Given the description of an element on the screen output the (x, y) to click on. 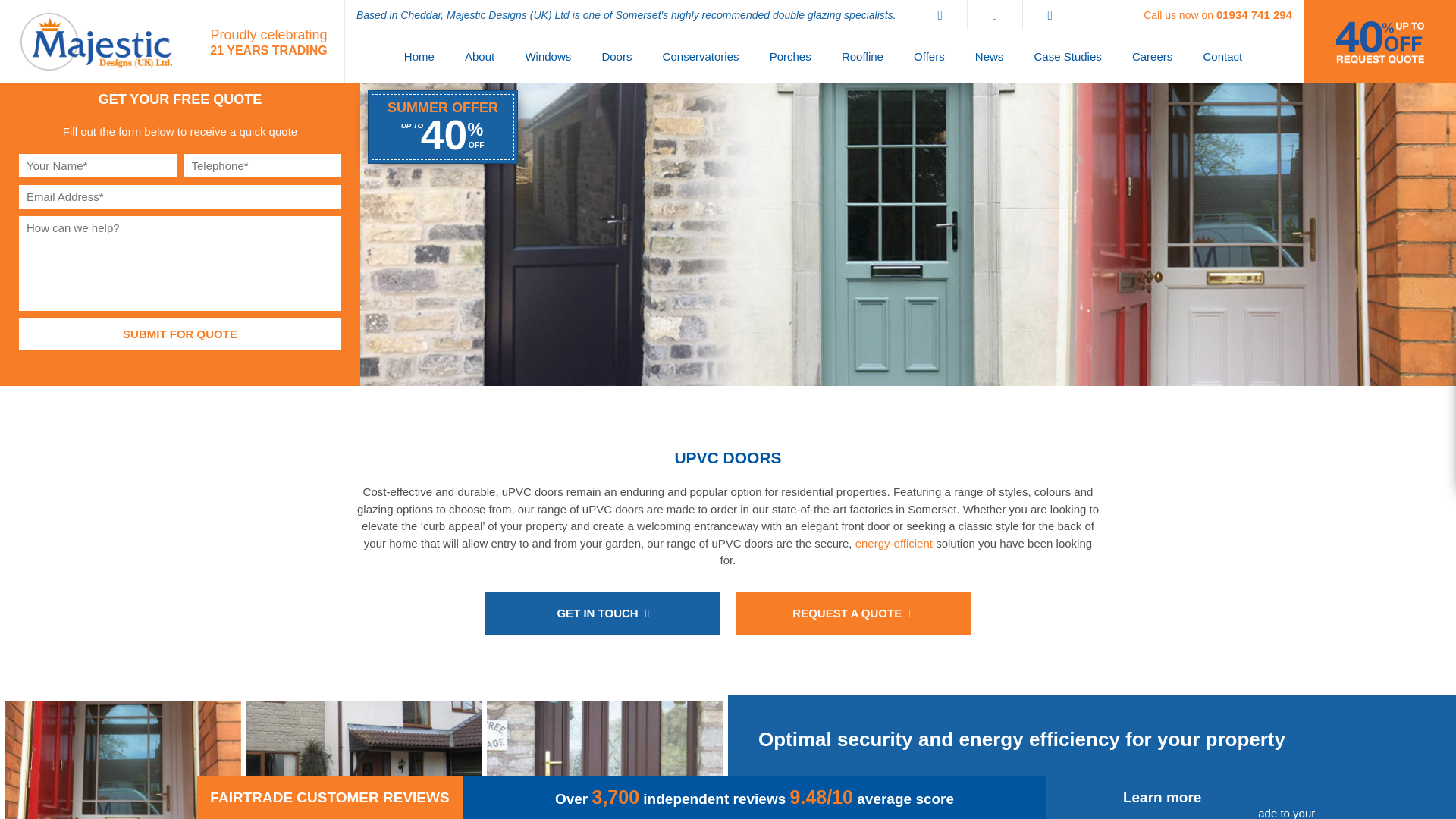
Get in touch (602, 613)
Submit for quote (179, 333)
Return to the homepage (96, 41)
Request a quote (853, 613)
